Given the description of an element on the screen output the (x, y) to click on. 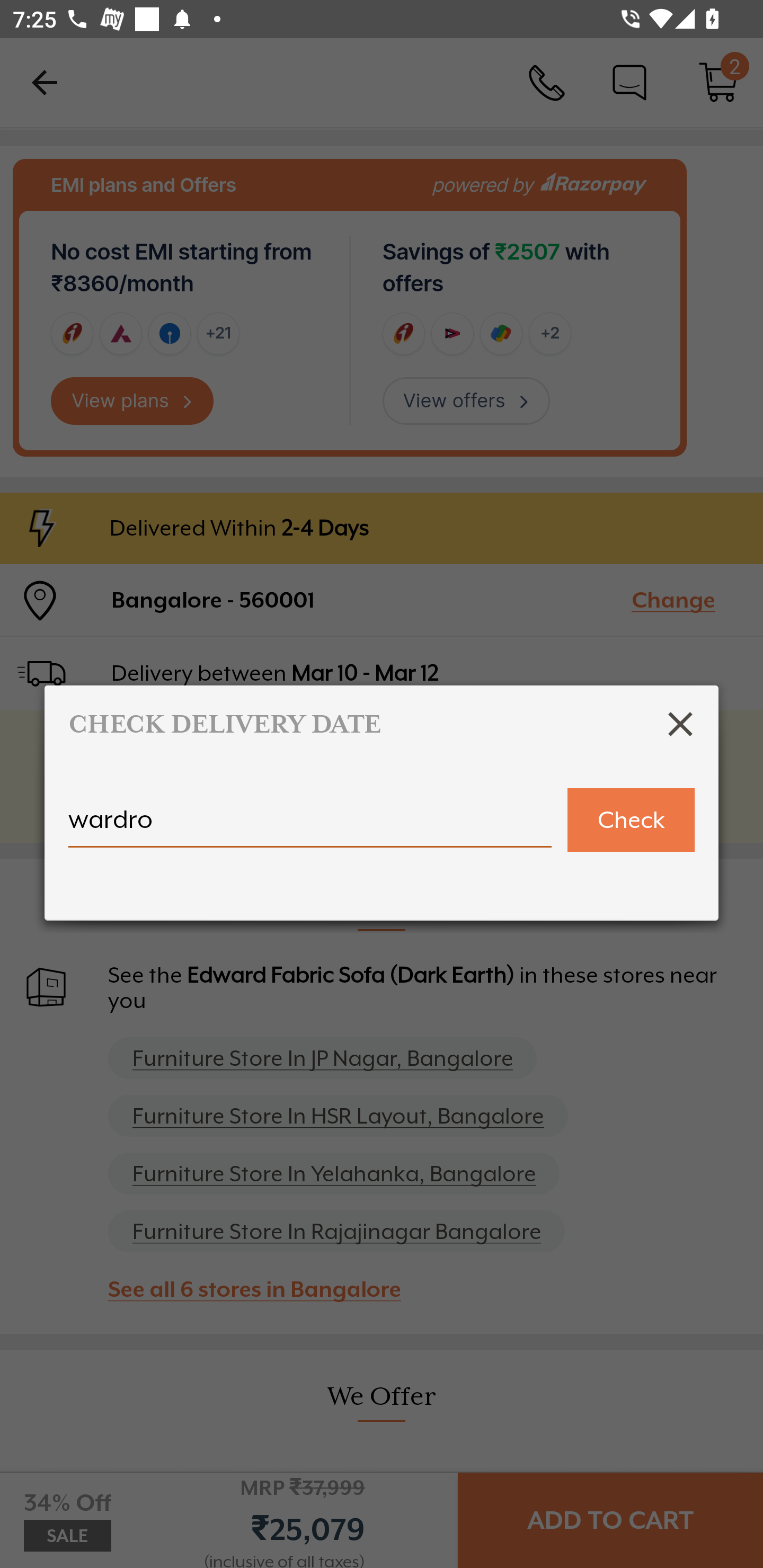
 (680, 723)
Check (630, 819)
wardro (309, 827)
